Given the description of an element on the screen output the (x, y) to click on. 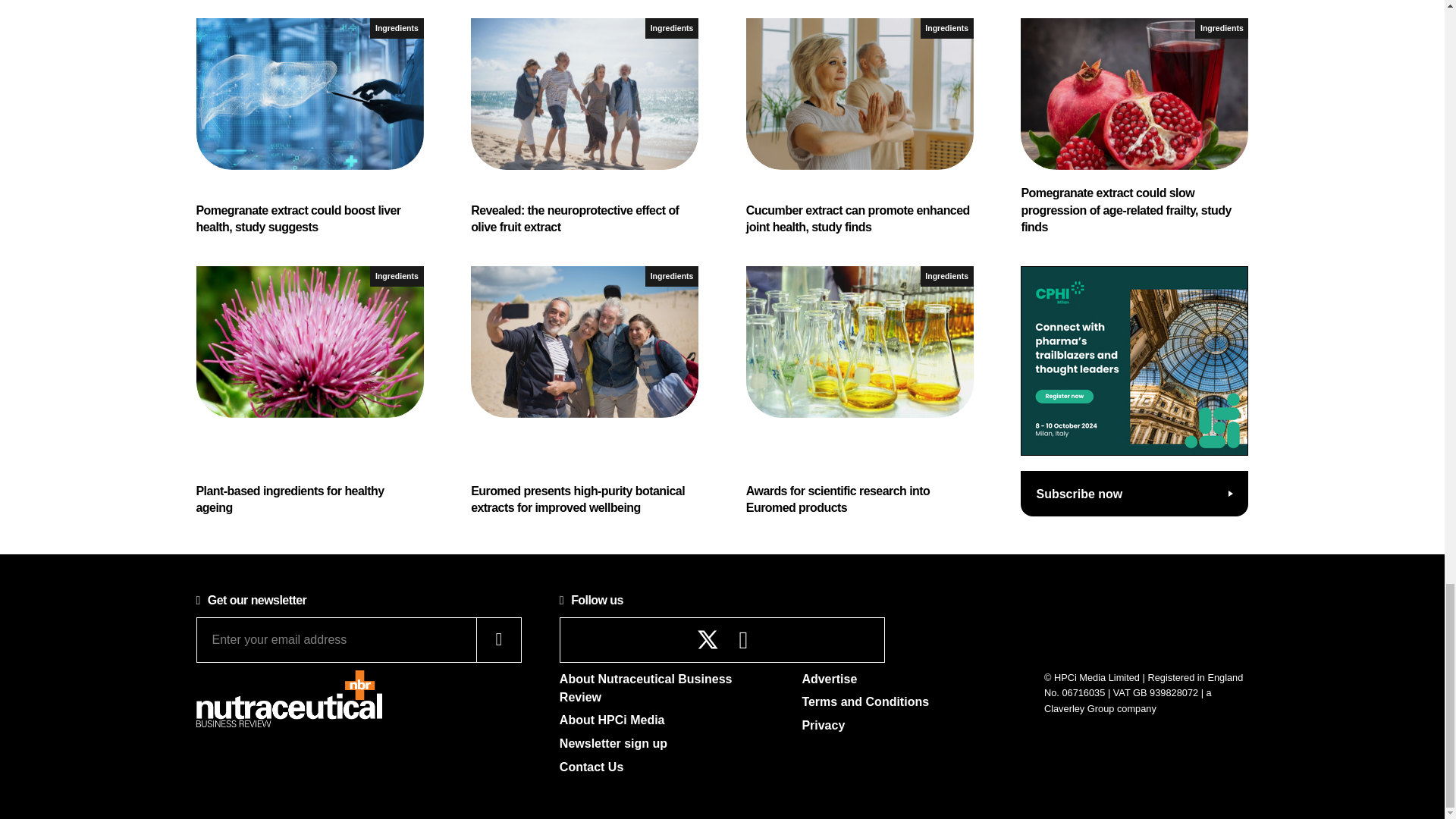
Follow Nutraceutical Business Review on X (708, 639)
Follow Nutraceutical Business Review on LinkedIn (743, 644)
